Given the description of an element on the screen output the (x, y) to click on. 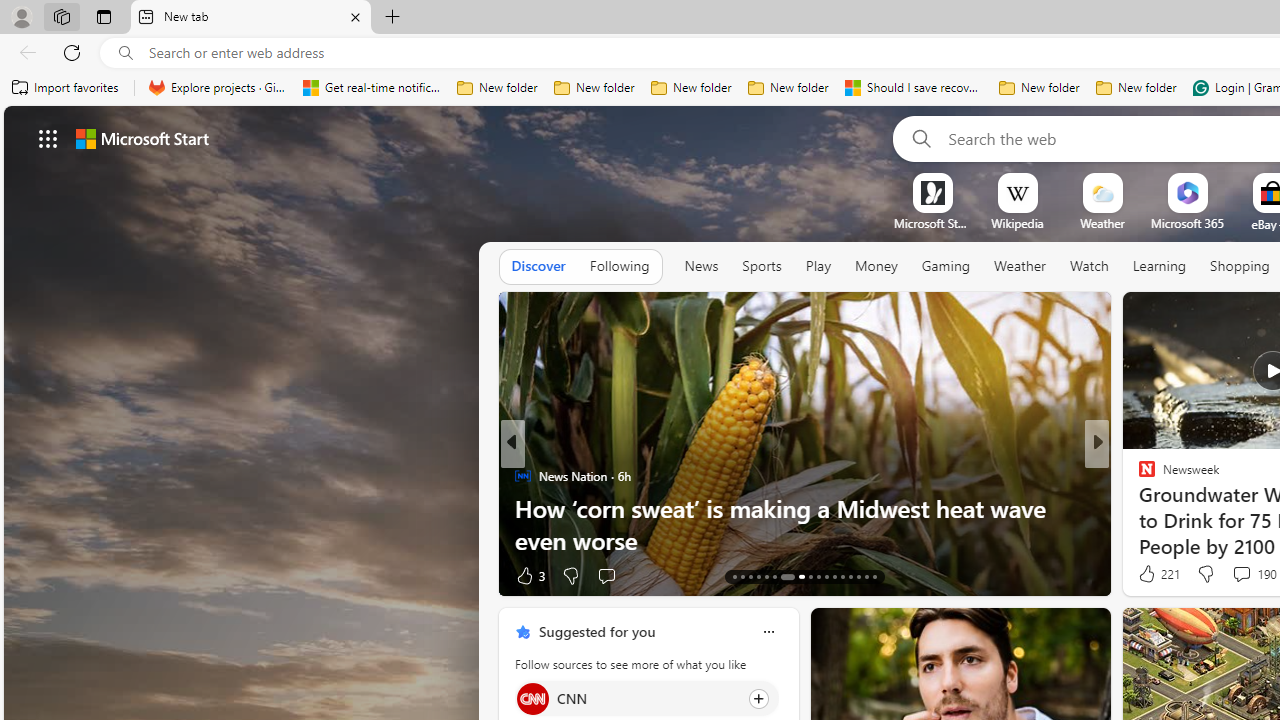
Wikipedia (1017, 223)
Search icon (125, 53)
Dislike (1204, 574)
Click to follow source CNN (646, 698)
Money (875, 265)
Class: icon-img (768, 632)
View comments 1 Comment (1229, 575)
Simply More Time (1138, 507)
Newsweek (1138, 475)
View comments 6 Comment (1229, 575)
AutomationID: tab-23 (825, 576)
Import favorites (65, 88)
See more (1086, 632)
68 Like (1149, 574)
News Nation (522, 475)
